Given the description of an element on the screen output the (x, y) to click on. 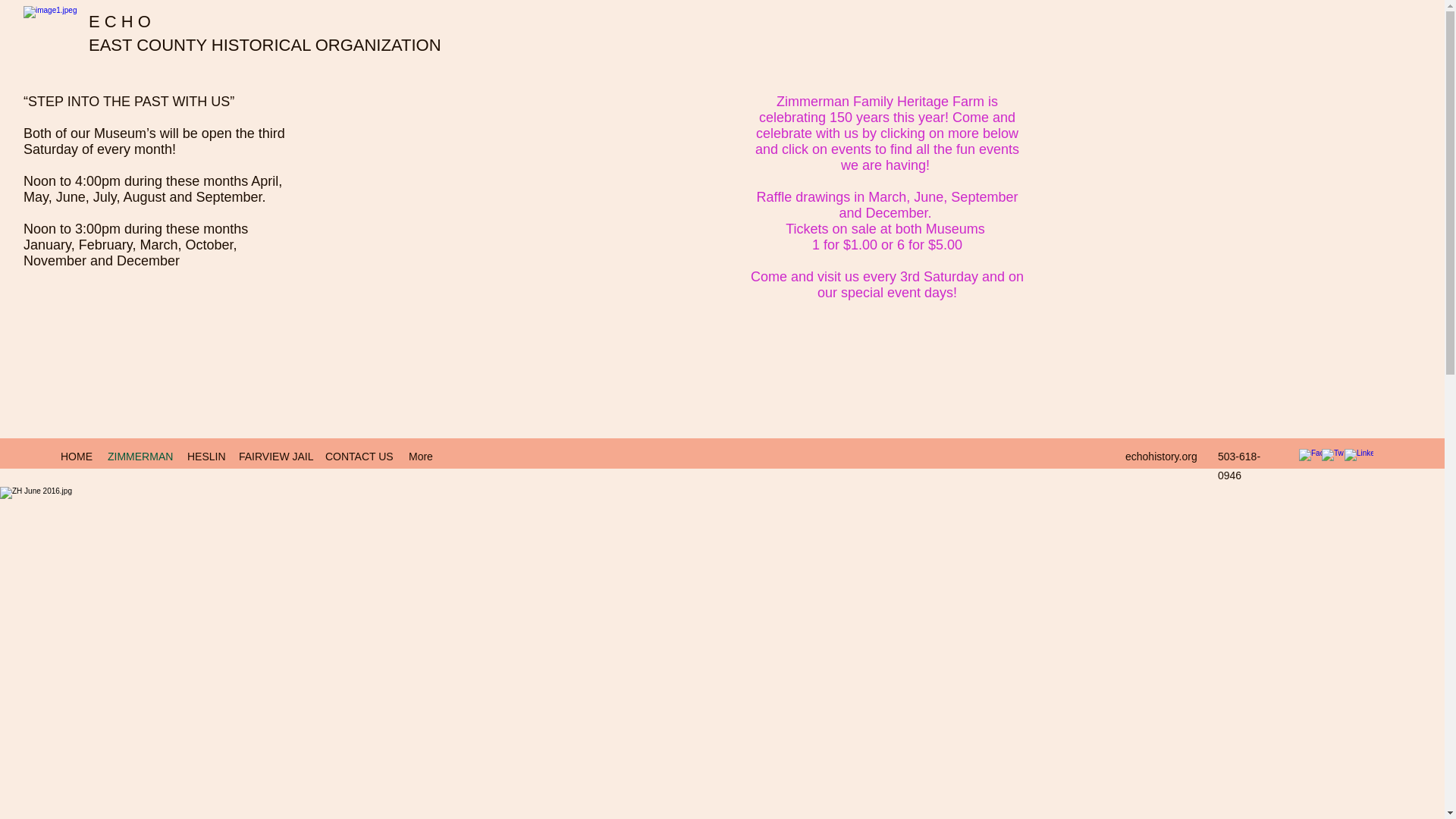
HOME (76, 456)
E C H O (119, 21)
FAIRVIEW JAIL (274, 456)
CONTACT US (359, 456)
EAST COUNTY HISTORICAL ORGANIZATION  (266, 45)
HESLIN (205, 456)
ZIMMERMAN (139, 456)
